Given the description of an element on the screen output the (x, y) to click on. 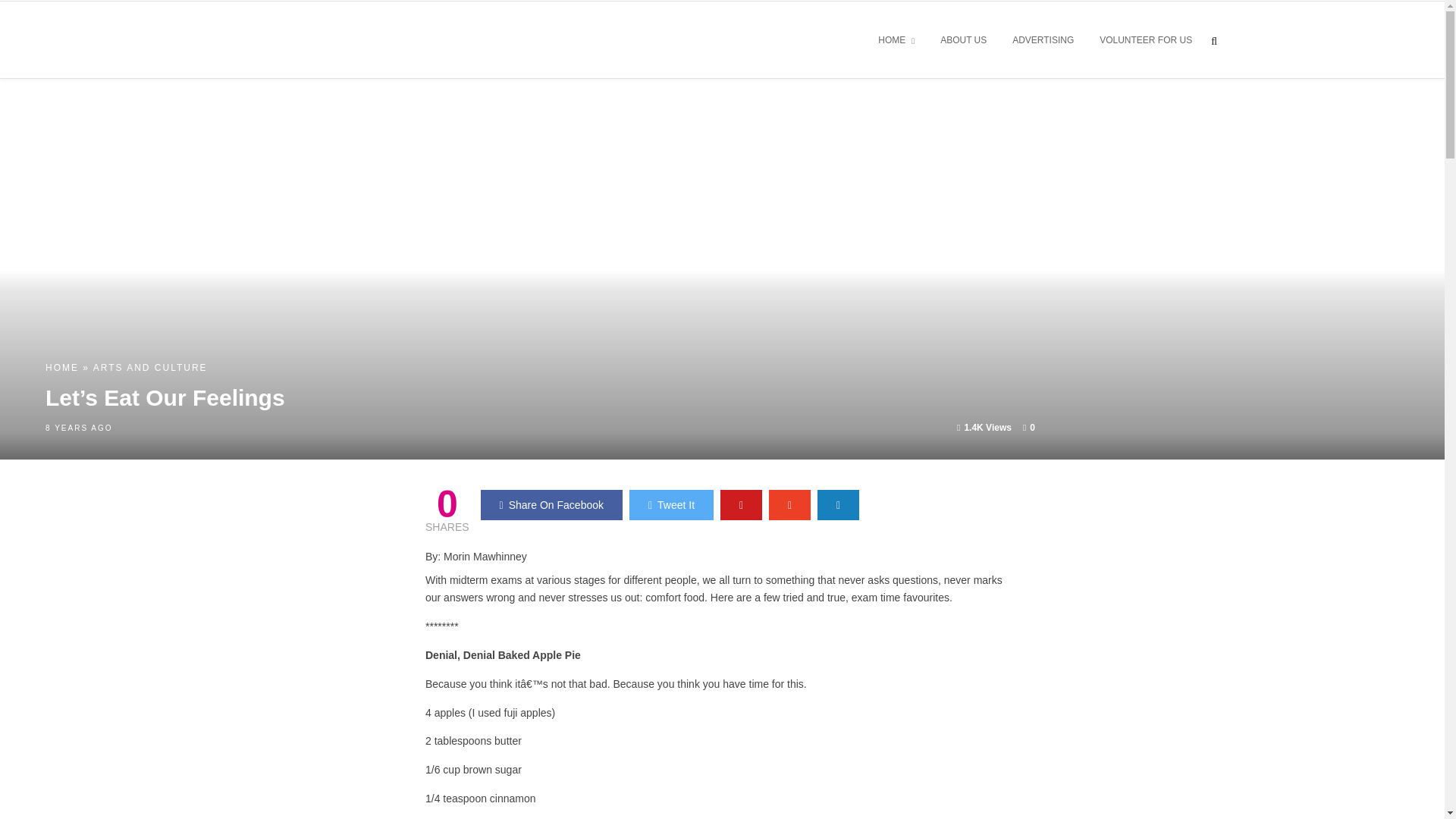
HOME (61, 367)
Share by Email (837, 504)
VOLUNTEER FOR US (1145, 40)
Share On Facebook (551, 504)
0 (1029, 427)
Share On Twitter (670, 504)
Tweet It (670, 504)
Share On Pinterest (740, 504)
Share On Facebook (551, 504)
ADVERTISING (1042, 40)
